Given the description of an element on the screen output the (x, y) to click on. 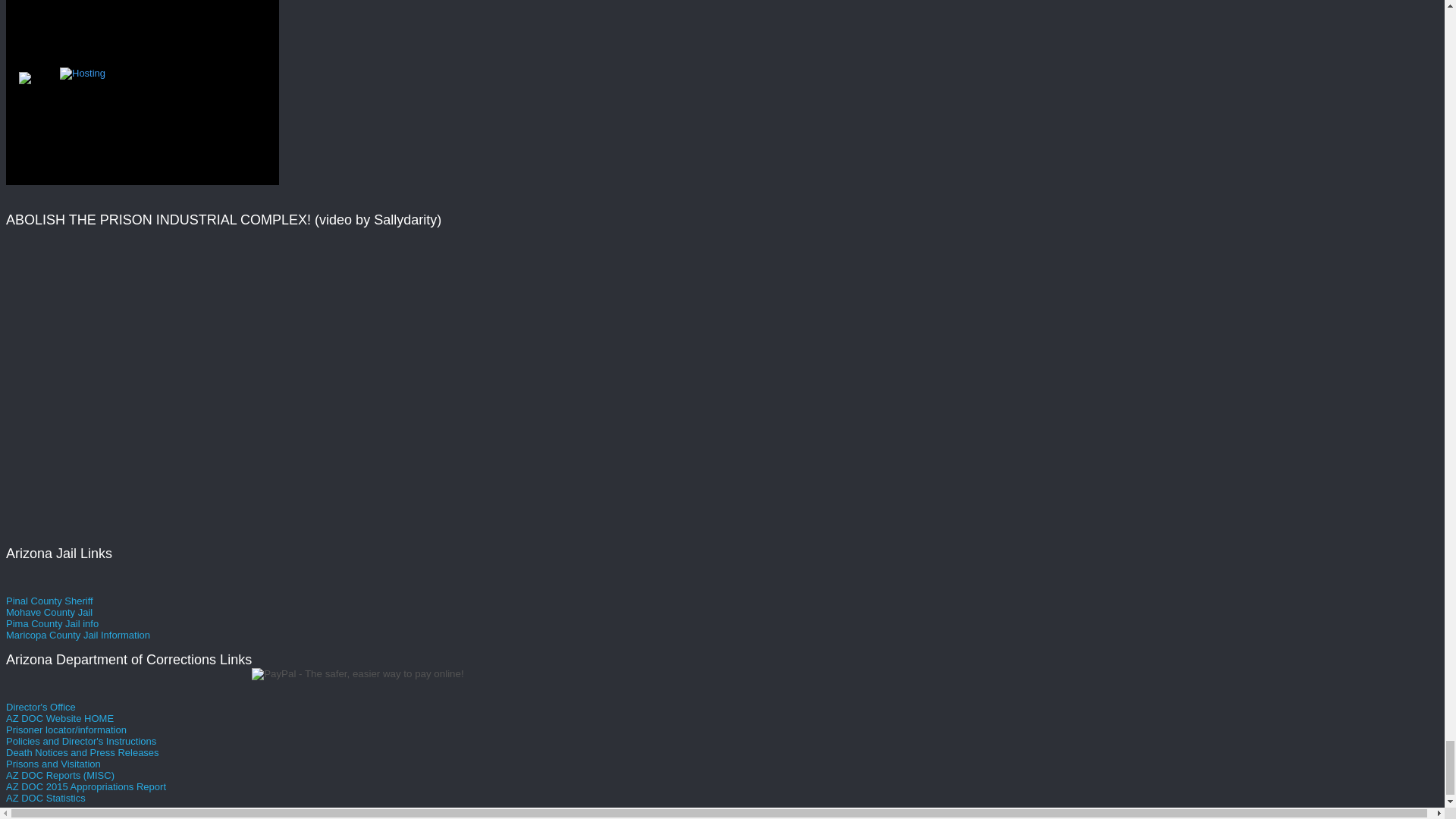
Free Blog Counters, Stats and Widgets (24, 80)
